Given the description of an element on the screen output the (x, y) to click on. 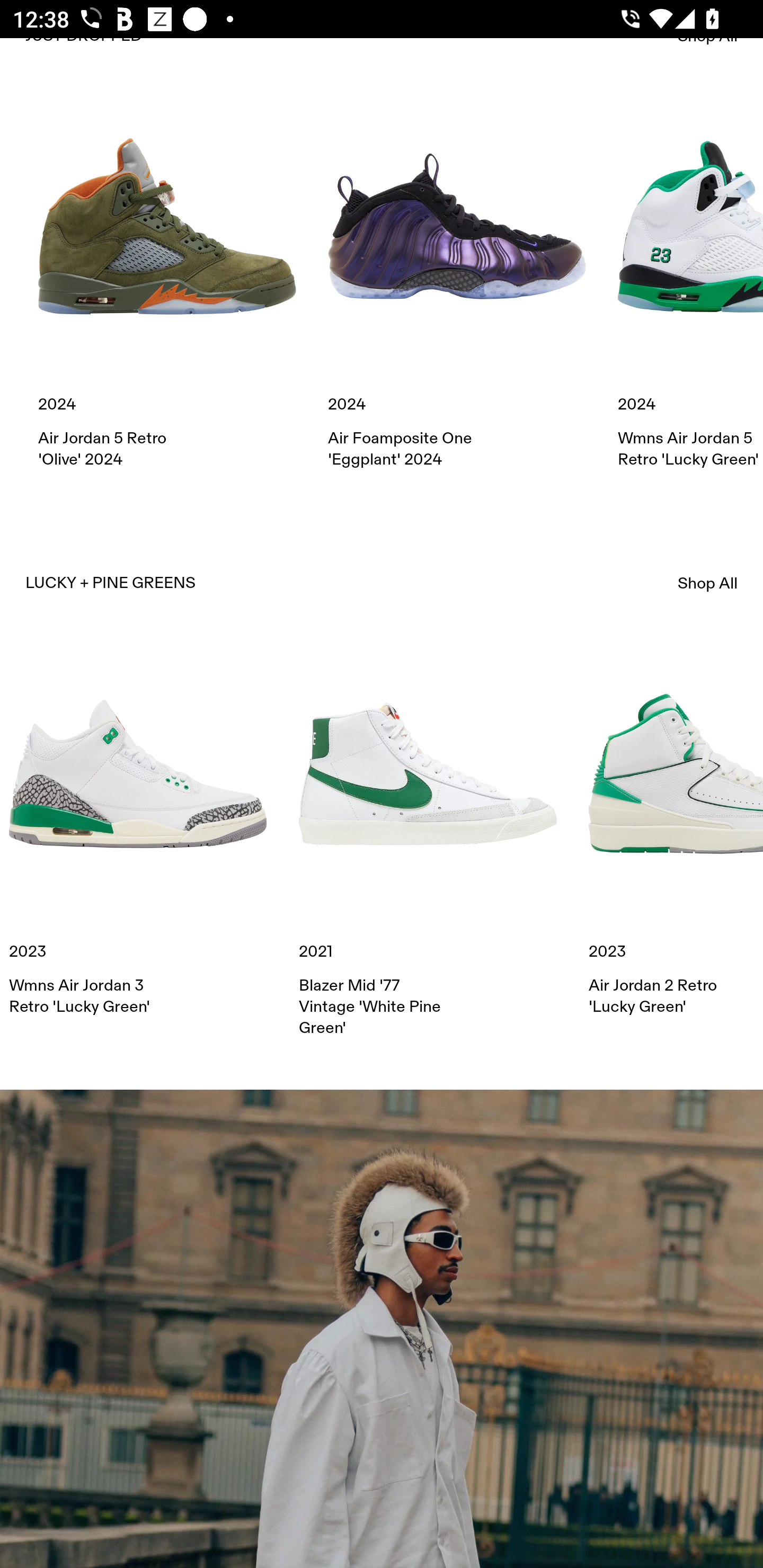
2024 Air Jordan 5 Retro 'Olive' 2024 (167, 283)
2024 Air Foamposite One 'Eggplant' 2024 (456, 283)
2024 Wmns Air Jordan 5 Retro 'Lucky Green' (690, 283)
Shop All (707, 583)
2023 Wmns Air Jordan 3 Retro 'Lucky Green' (138, 830)
2021 Blazer Mid '77 Vintage 'White Pine Green' (427, 841)
2023 Air Jordan 2 Retro 'Lucky Green' (676, 830)
